Given the description of an element on the screen output the (x, y) to click on. 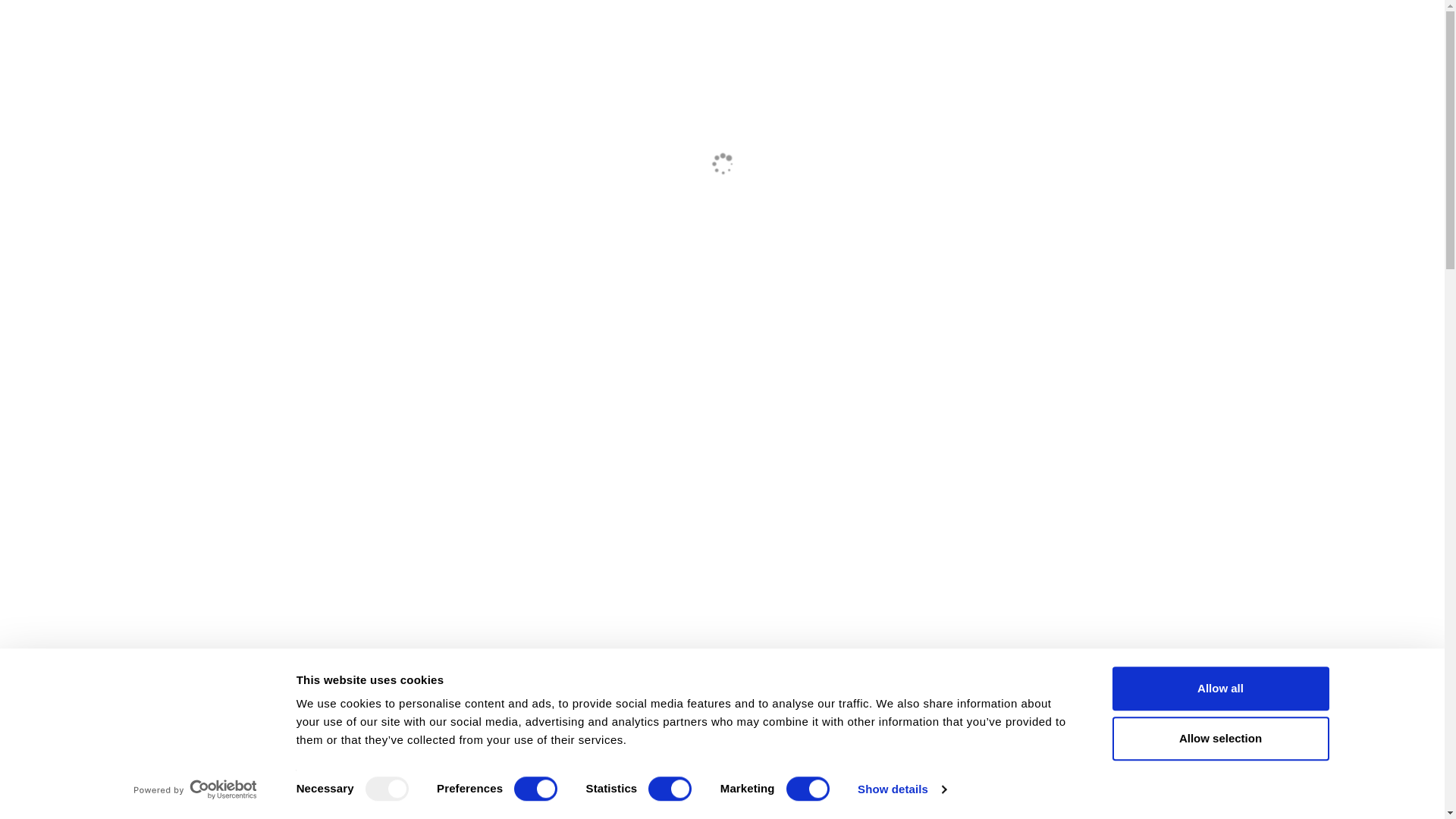
Allow selection (1219, 738)
Show details (900, 789)
Allow all (1219, 688)
